Given the description of an element on the screen output the (x, y) to click on. 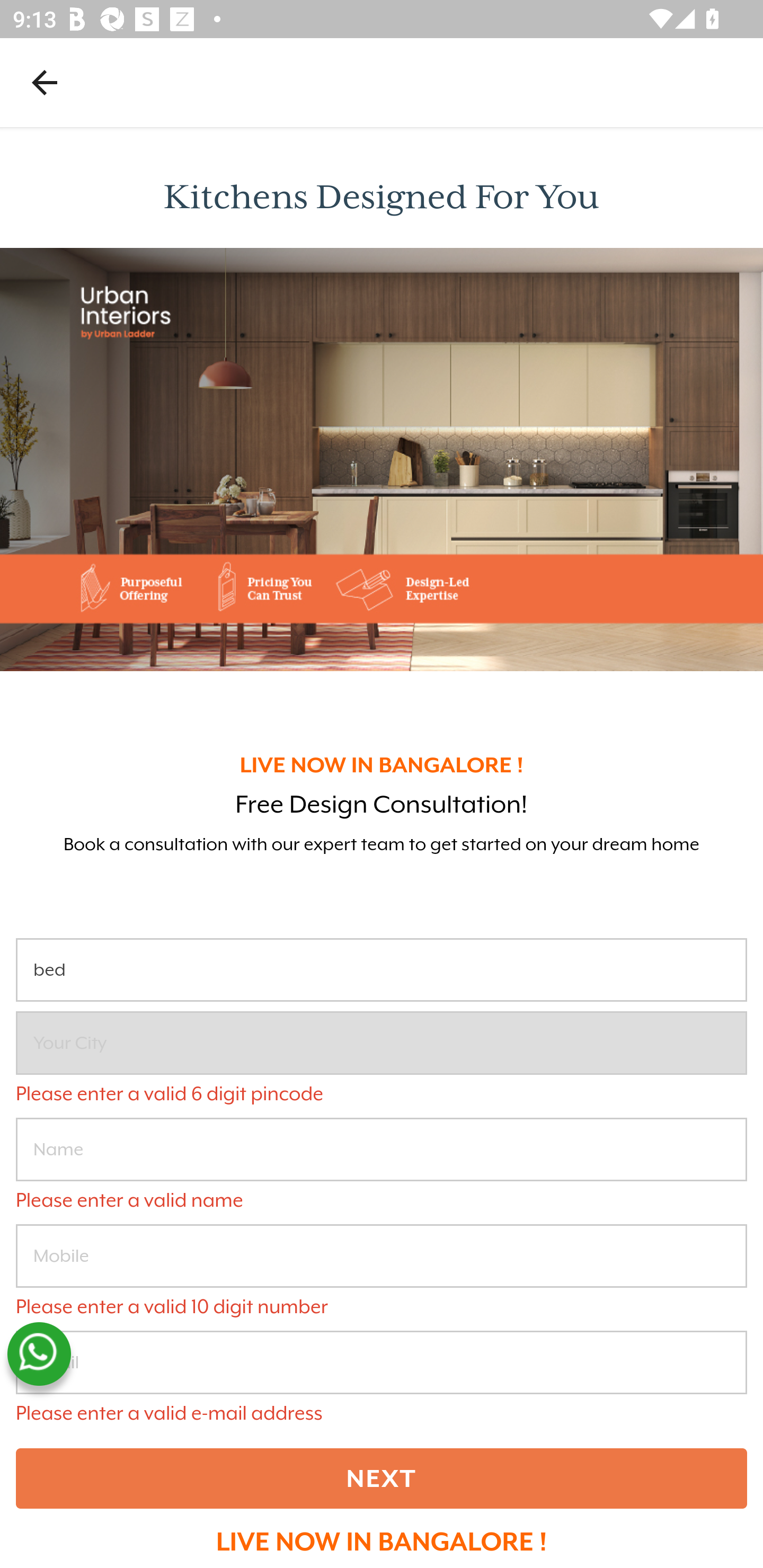
Navigate up (44, 82)
bed Next LIVE NOW IN BANGALORE ! (381, 1246)
bed (381, 970)
whatsapp (38, 1353)
Next (381, 1478)
